Given the description of an element on the screen output the (x, y) to click on. 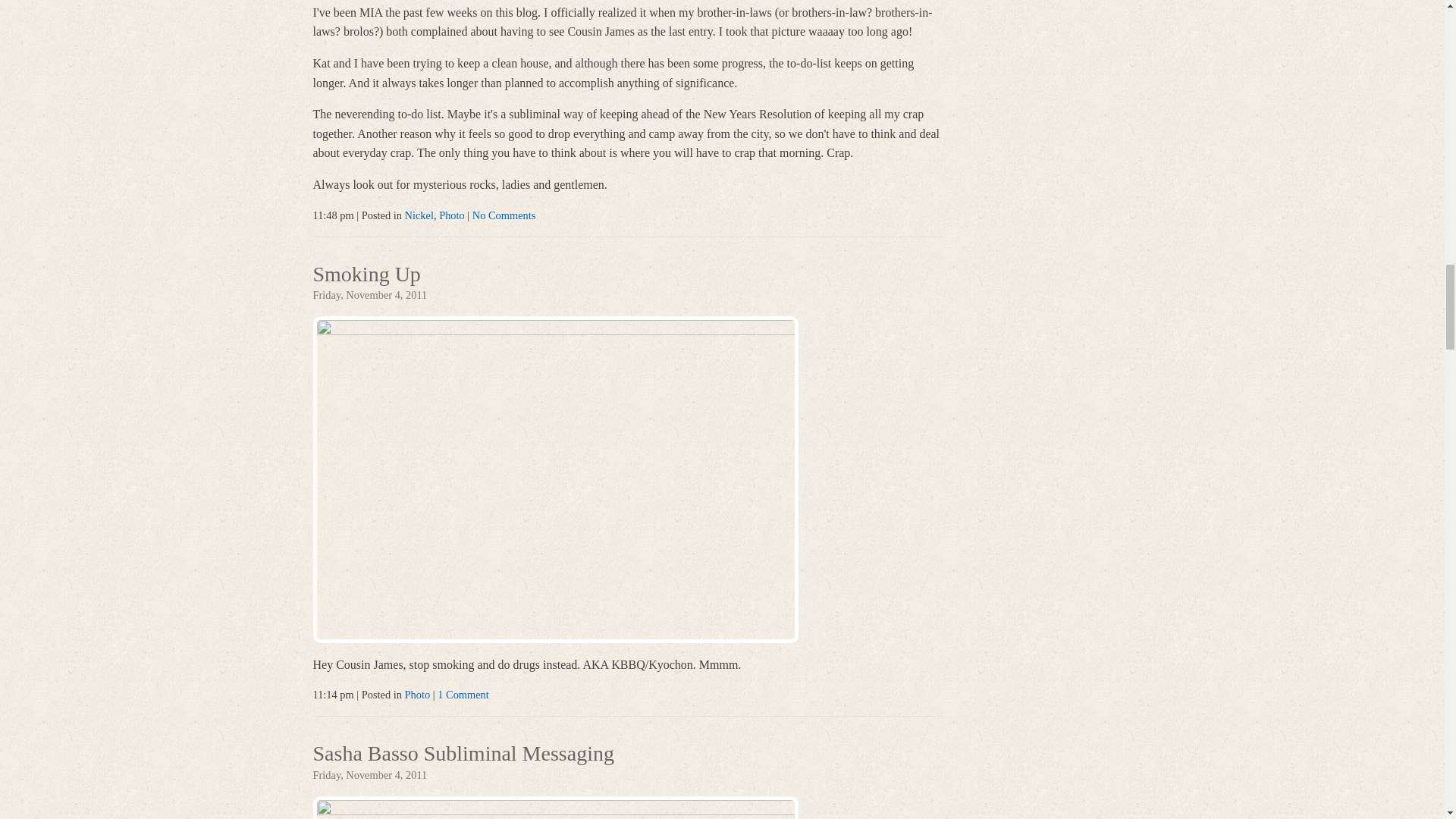
Smoking Up (366, 275)
Photo (451, 215)
Photo (417, 694)
Sasha Basso Subliminal Messaging (462, 755)
Nickel (418, 215)
1 Comment (463, 694)
No Comments (503, 215)
